Given the description of an element on the screen output the (x, y) to click on. 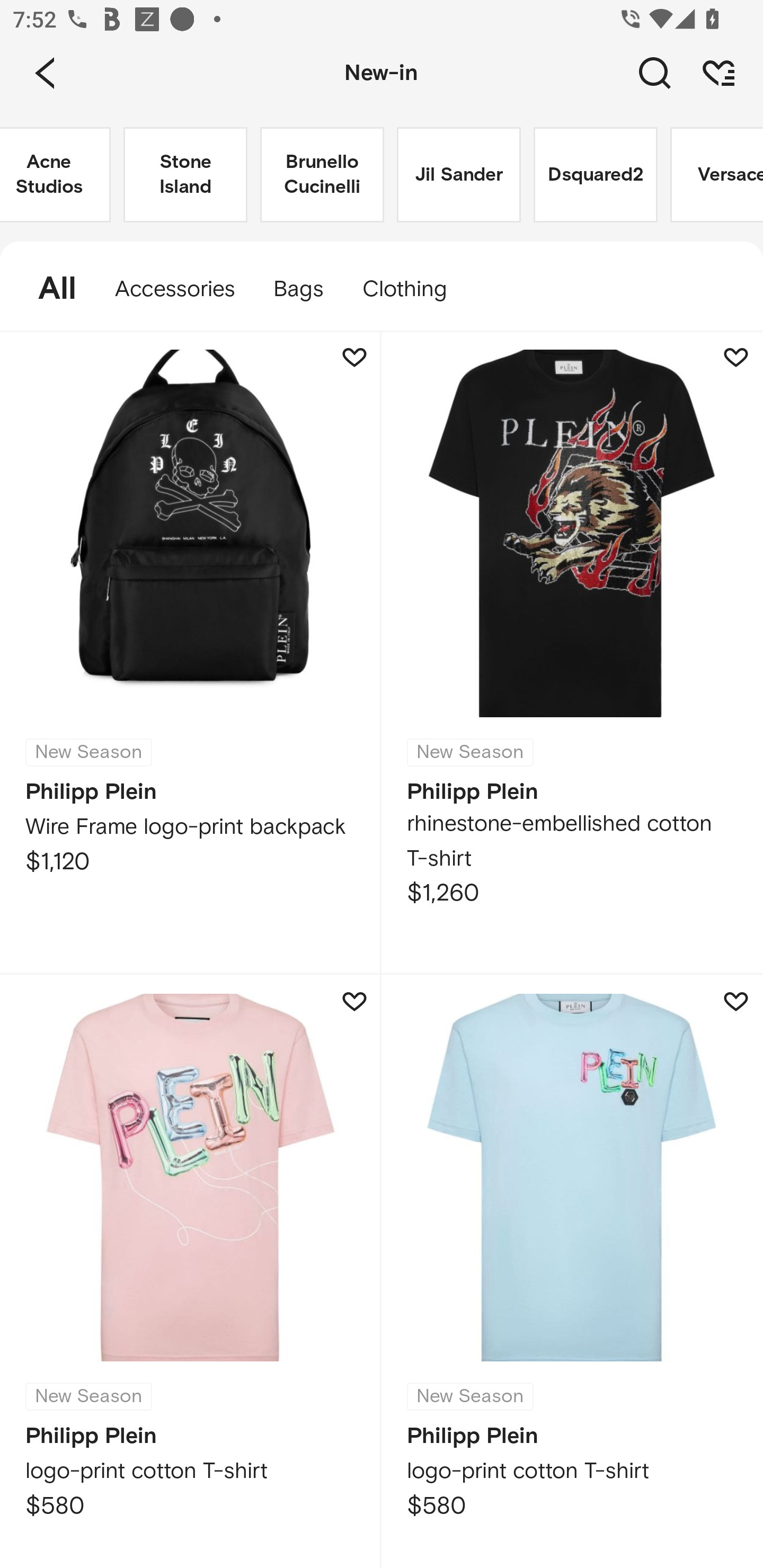
Acne Studios (55, 174)
Stone Island (185, 174)
Brunello Cucinelli (321, 174)
Jil Sander (458, 174)
Dsquared2 (595, 174)
Versace (716, 174)
All (47, 288)
Accessories (174, 288)
Bags (298, 288)
Clothing (413, 288)
